Given the description of an element on the screen output the (x, y) to click on. 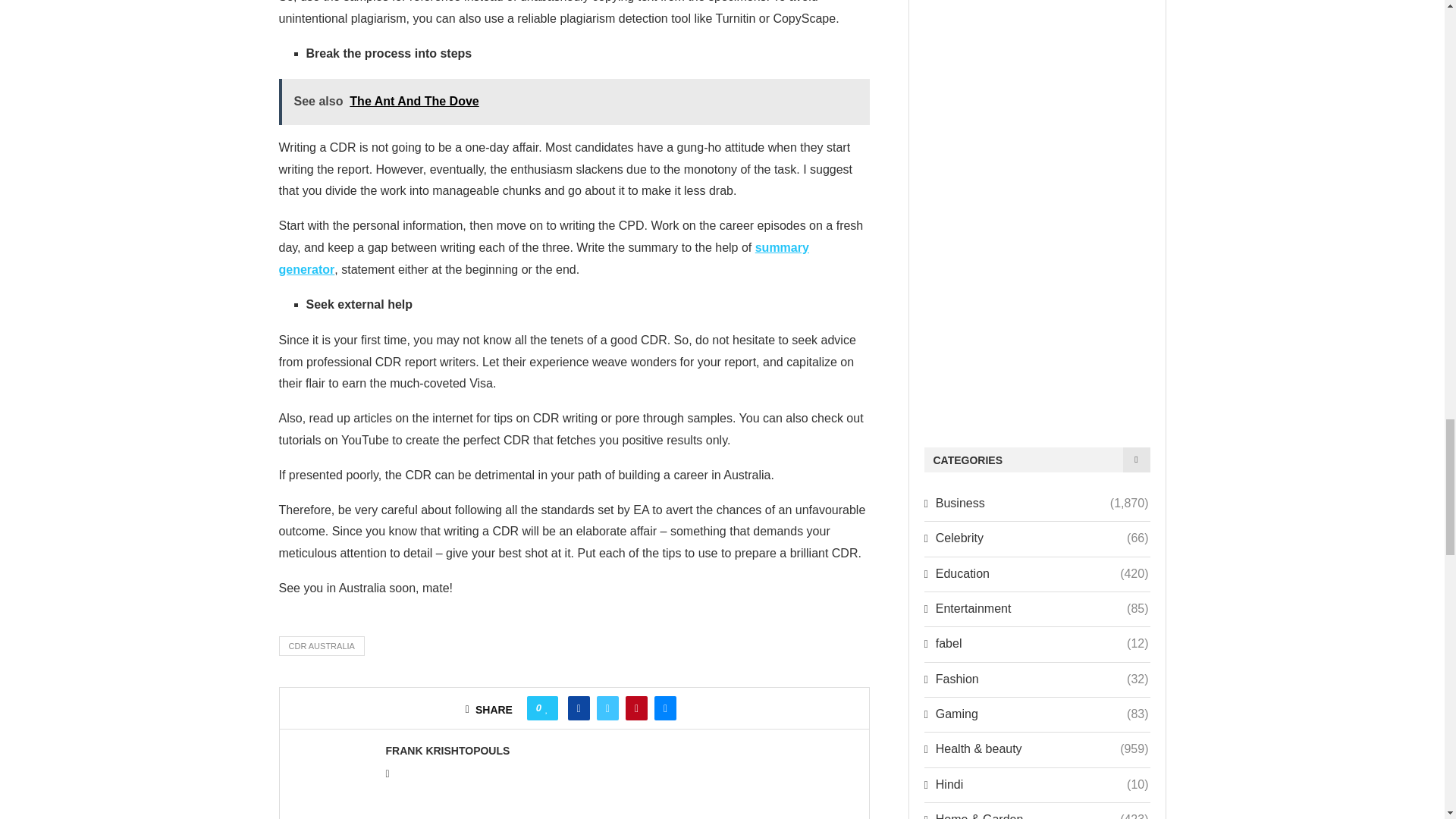
CDR AUSTRALIA (322, 646)
FRANK KRISHTOPOULS (447, 750)
Author frank krishtopouls (447, 750)
See also  The Ant And The Dove (574, 101)
summary generator (544, 258)
